Given the description of an element on the screen output the (x, y) to click on. 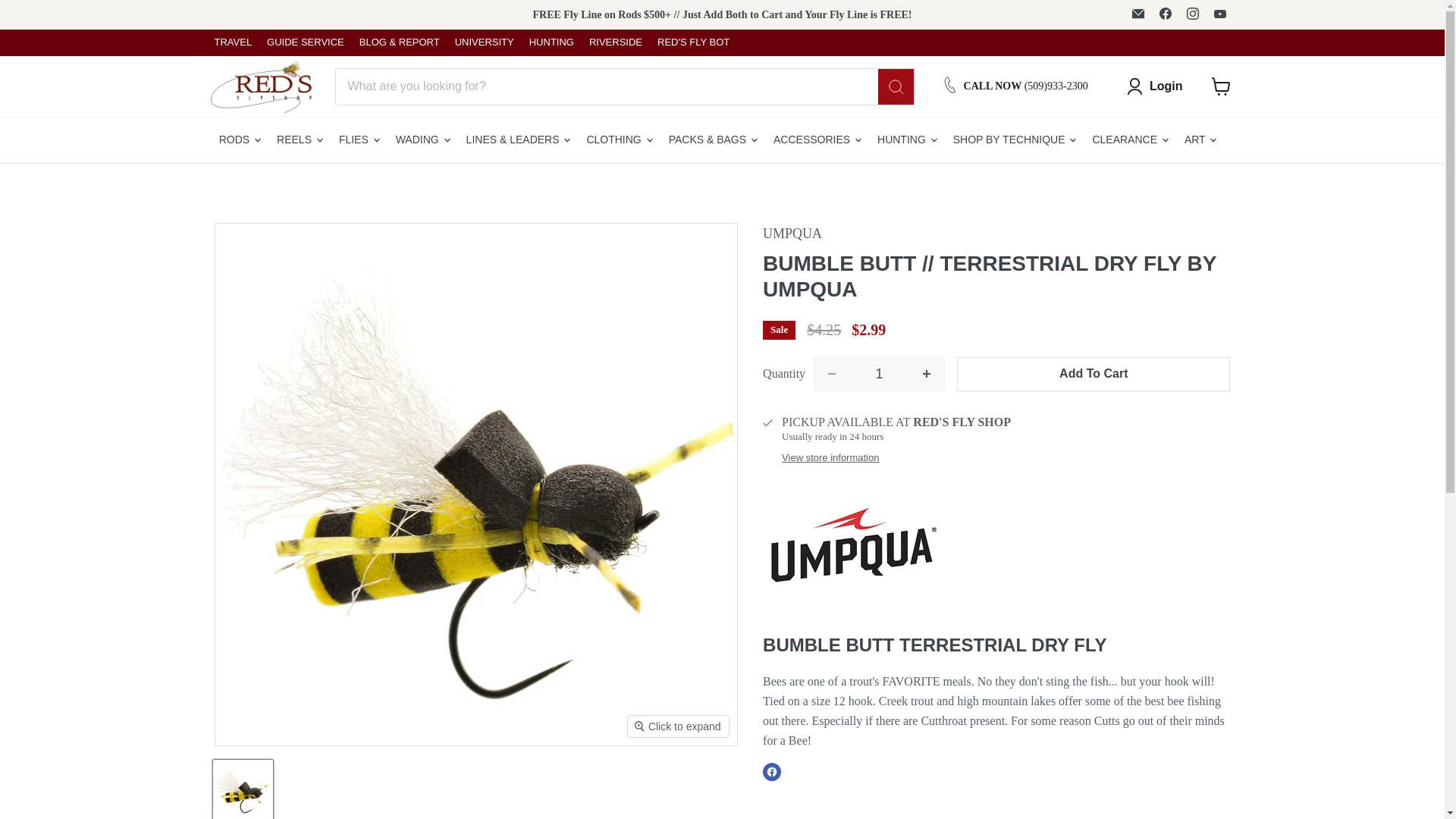
GUIDE SERVICE (304, 42)
Instagram (1191, 13)
RIVERSIDE (615, 42)
Login (1154, 85)
Email Red's Fly Shop (1137, 13)
RED'S FLY BOT (693, 42)
YouTube (1219, 13)
Email (1137, 13)
HUNTING (551, 42)
Find us on Facebook (1164, 13)
